Given the description of an element on the screen output the (x, y) to click on. 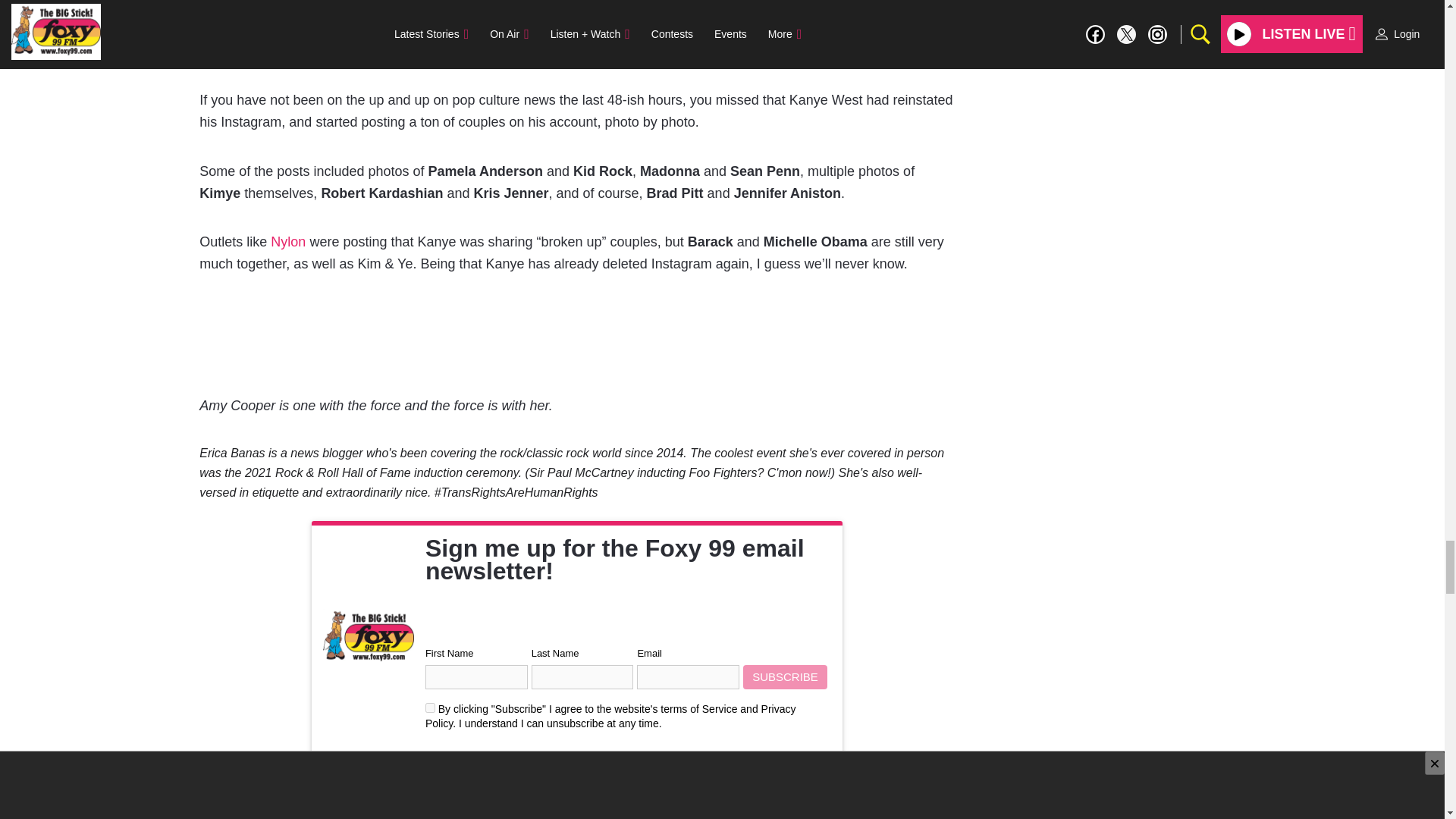
on (430, 707)
